Given the description of an element on the screen output the (x, y) to click on. 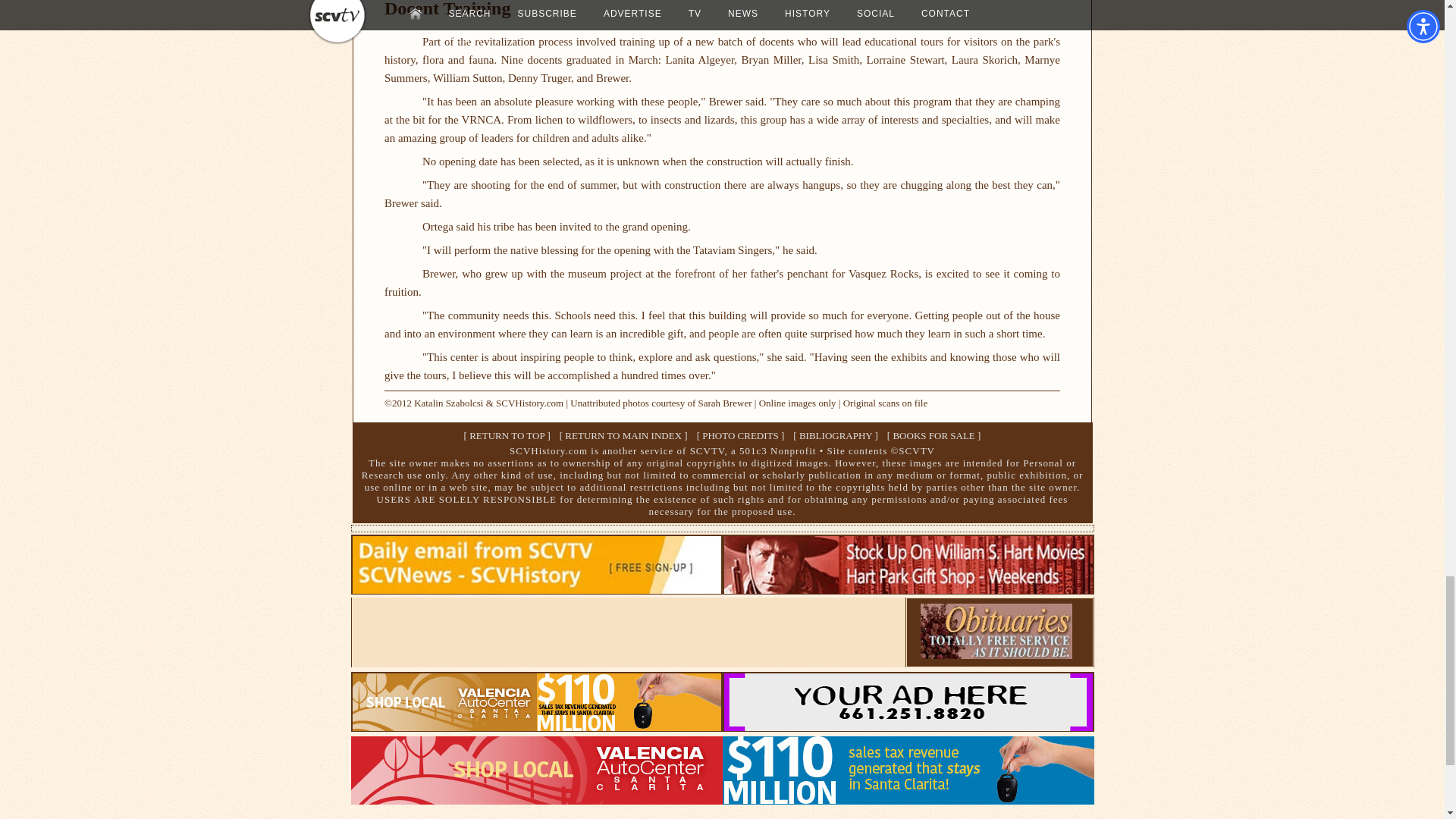
Auto Mall (721, 799)
Auto Mall (536, 726)
Obituaries (995, 654)
Hart Park Gift Shop (907, 589)
Eletter (536, 589)
ADVERTISE ON SCVTV (907, 726)
